Given the description of an element on the screen output the (x, y) to click on. 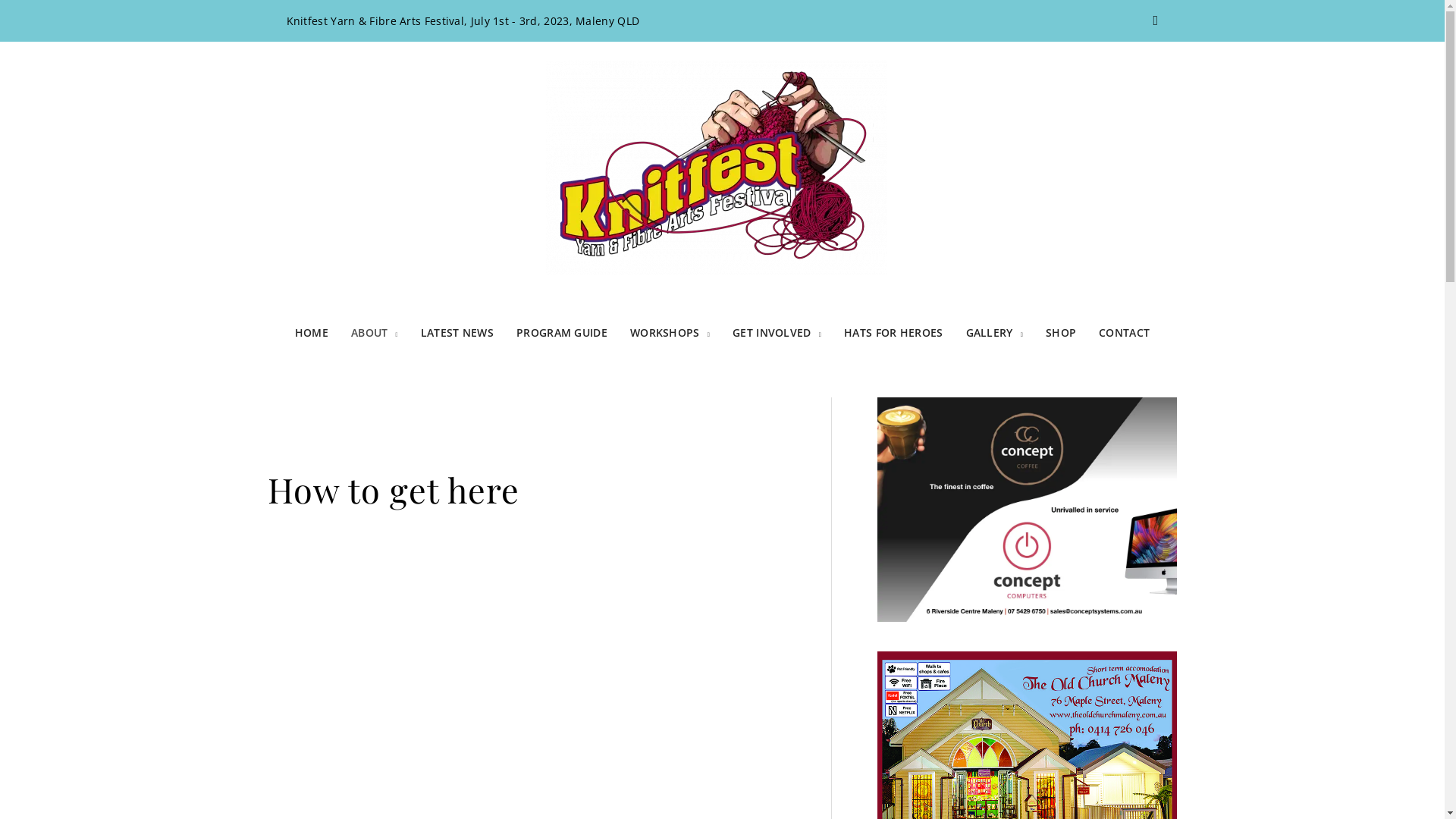
Search Element type: text (1155, 20)
LATEST NEWS Element type: text (457, 332)
16 Bunya St, Maleny Element type: hover (529, 675)
ABOUT Element type: text (374, 332)
HATS FOR HEROES Element type: text (893, 332)
GET INVOLVED Element type: text (776, 332)
CONTACT Element type: text (1124, 332)
WORKSHOPS Element type: text (669, 332)
SHOP Element type: text (1060, 332)
GALLERY Element type: text (994, 332)
PROGRAM GUIDE Element type: text (561, 332)
HOME Element type: text (311, 332)
